Given the description of an element on the screen output the (x, y) to click on. 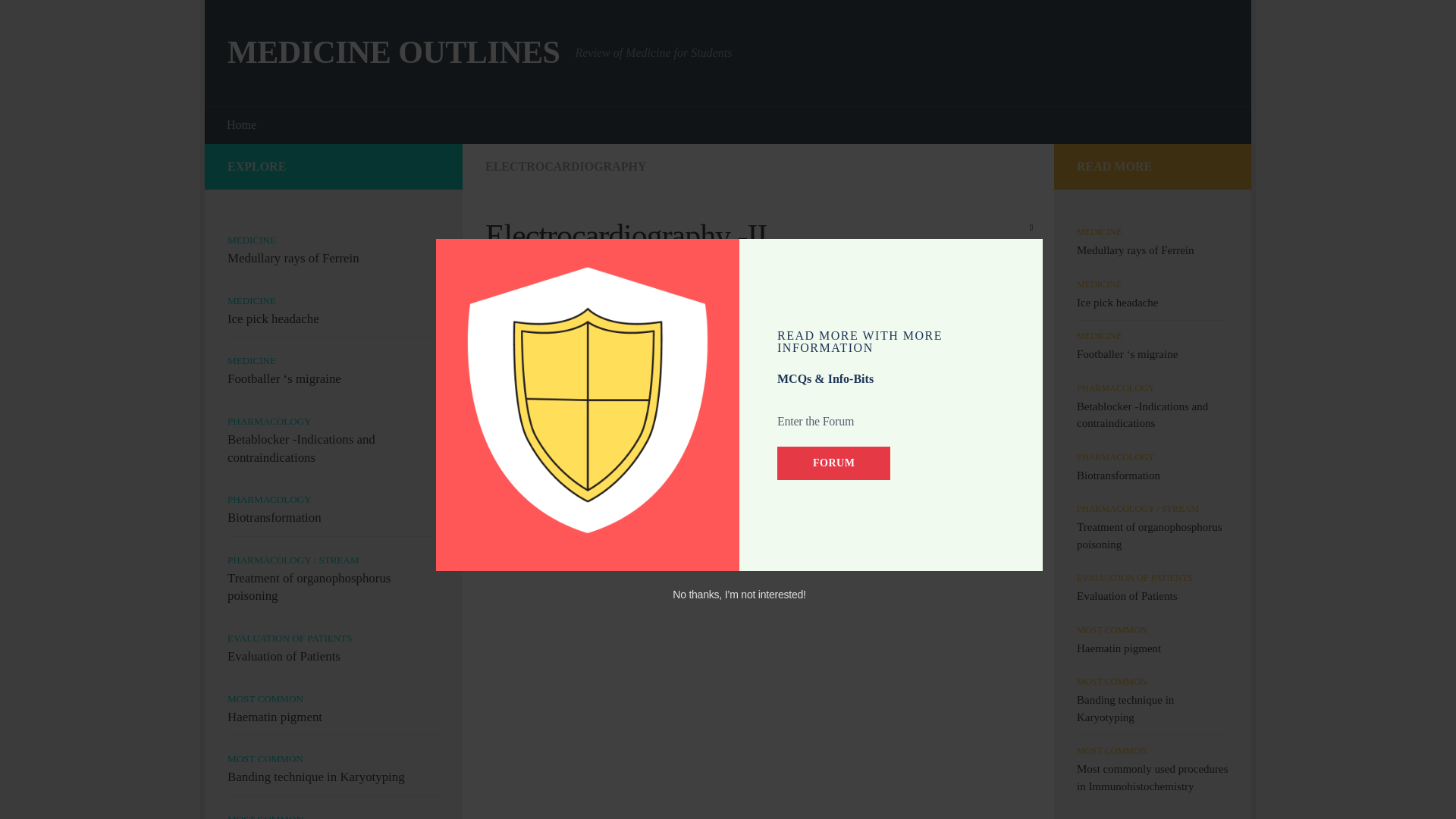
Medullary rays of Ferrein (293, 257)
Ice pick headache (272, 318)
STREAM (338, 559)
Evaluation of Patients (283, 656)
Haematin pigment (274, 716)
Home (240, 125)
Electrocardiography -I (621, 420)
MOST COMMON (264, 698)
MEDICINE (251, 239)
MOST COMMON (264, 758)
